Given the description of an element on the screen output the (x, y) to click on. 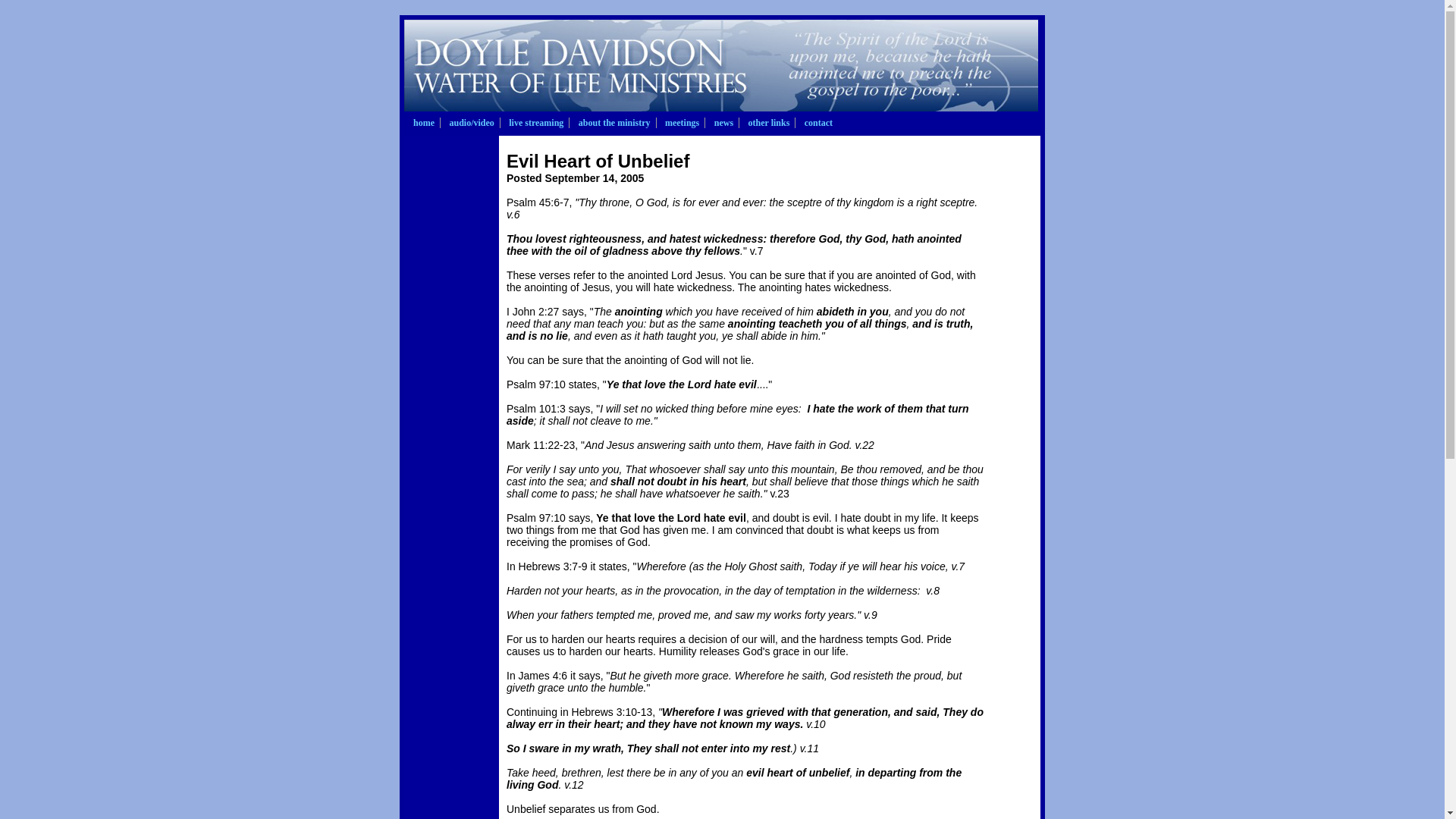
live streaming (535, 122)
home (423, 122)
news (723, 122)
about the ministry (614, 122)
contact (818, 122)
meetings (681, 122)
other links (769, 122)
